Given the description of an element on the screen output the (x, y) to click on. 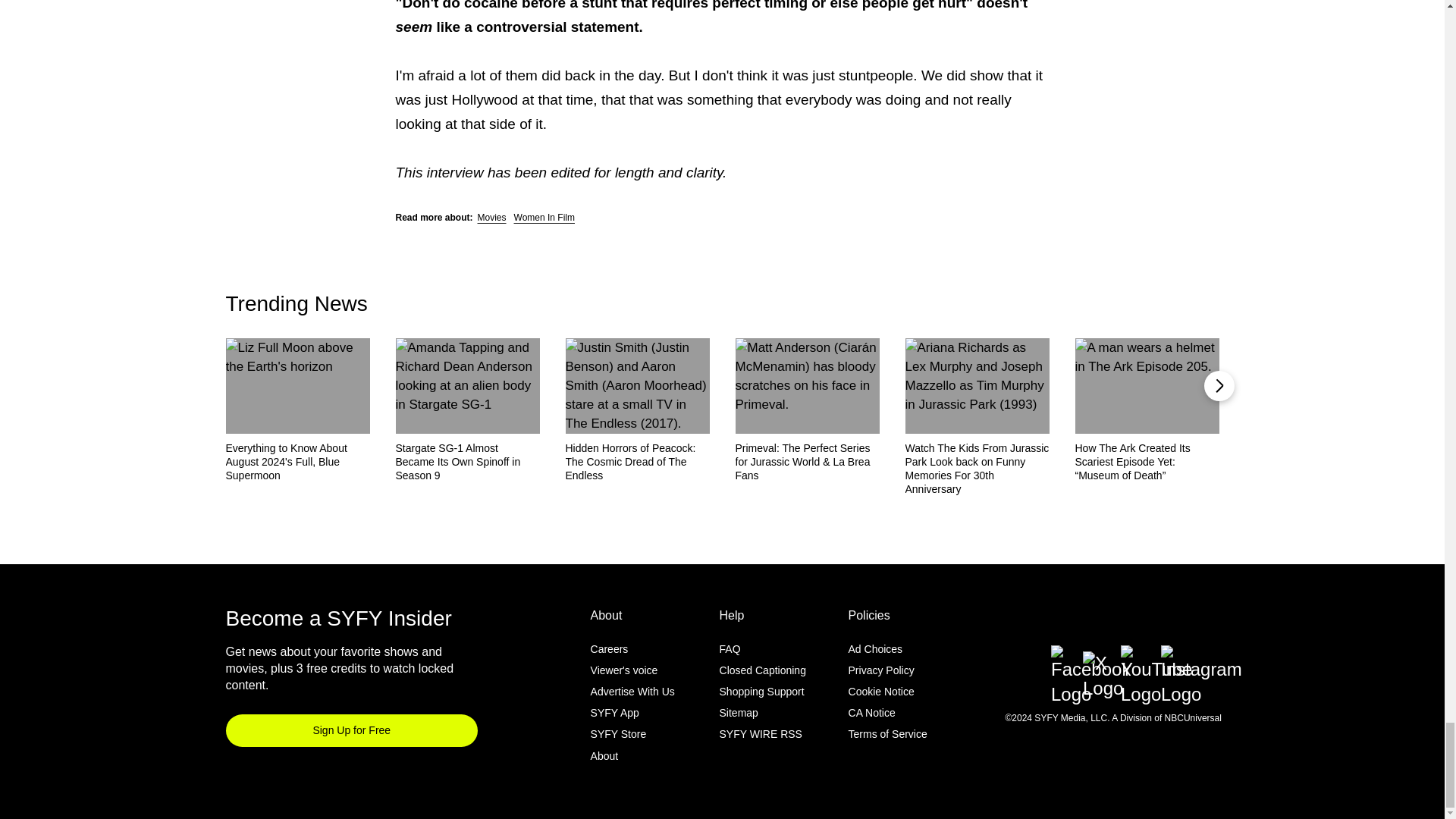
Stargate SG-1 Almost Became Its Own Spinoff in Season 9 (468, 461)
Everything to Know About August 2024's Full, Blue Supermoon (297, 461)
Advertise With Us (633, 691)
Women In Film (544, 217)
Hidden Horrors of Peacock: The Cosmic Dread of The Endless (638, 461)
Movies (491, 217)
